Given the description of an element on the screen output the (x, y) to click on. 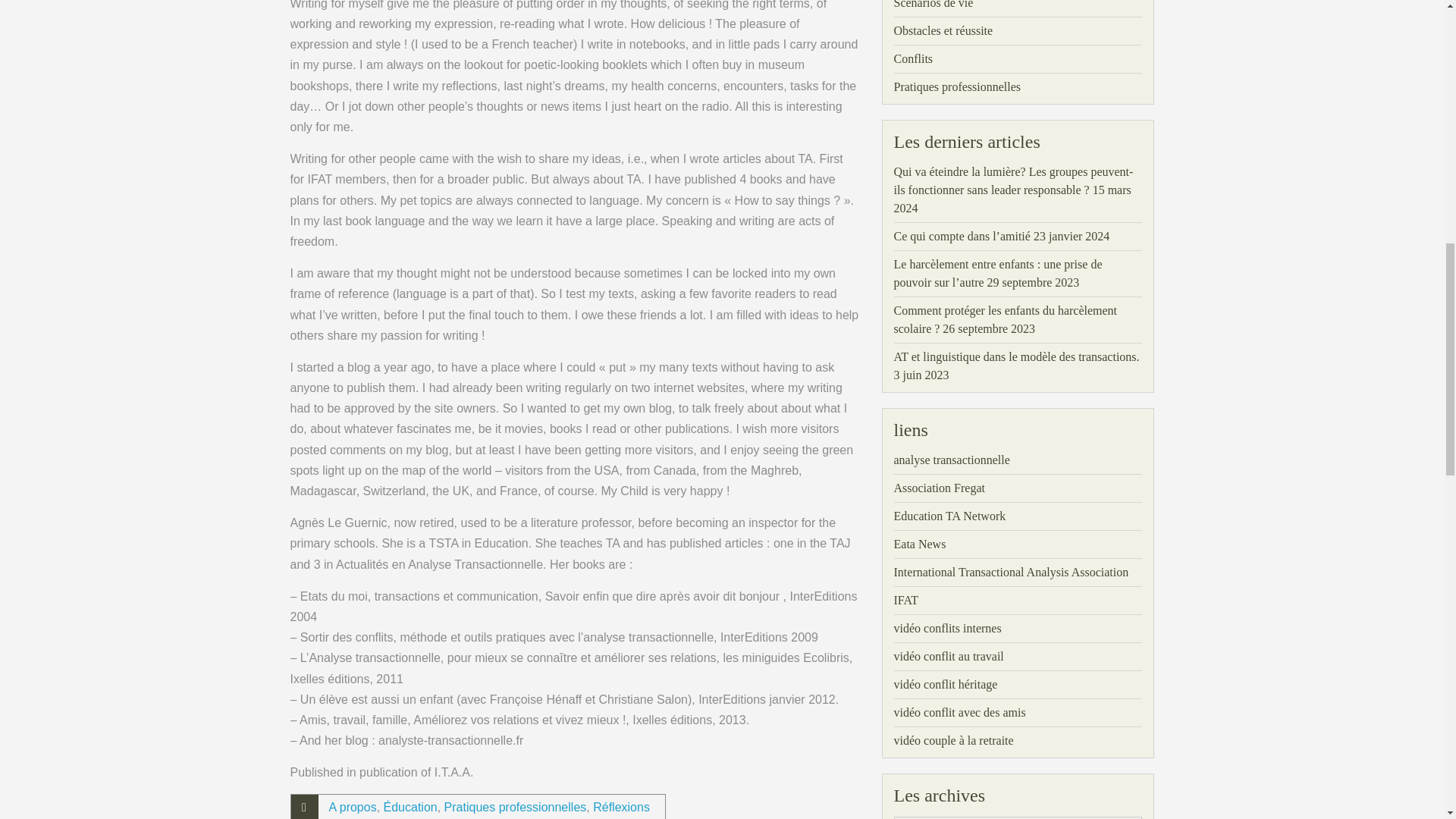
A propos (353, 807)
Pratiques professionnelles (515, 807)
Conflits (913, 57)
